Given the description of an element on the screen output the (x, y) to click on. 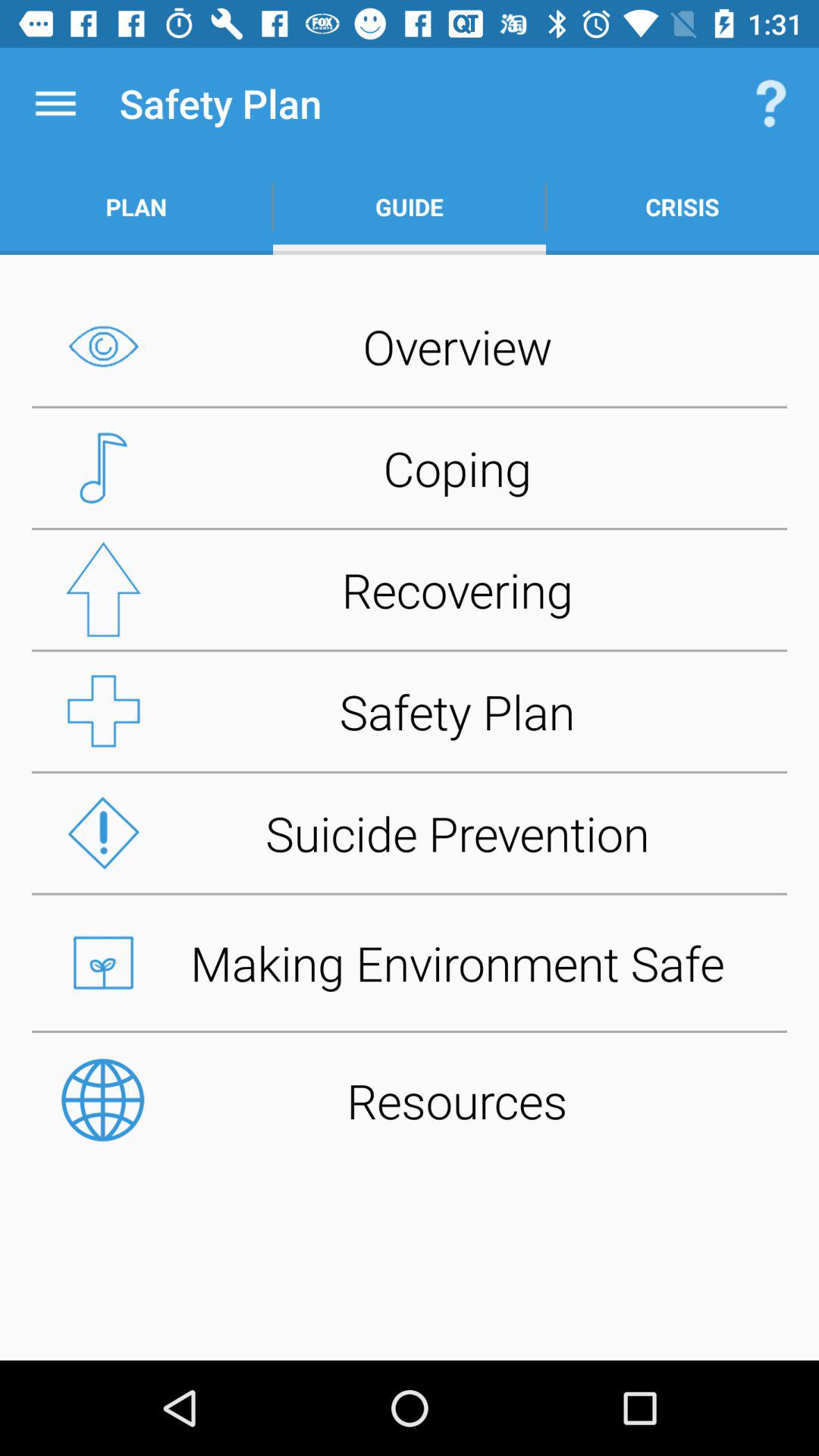
turn off guide icon (409, 206)
